Given the description of an element on the screen output the (x, y) to click on. 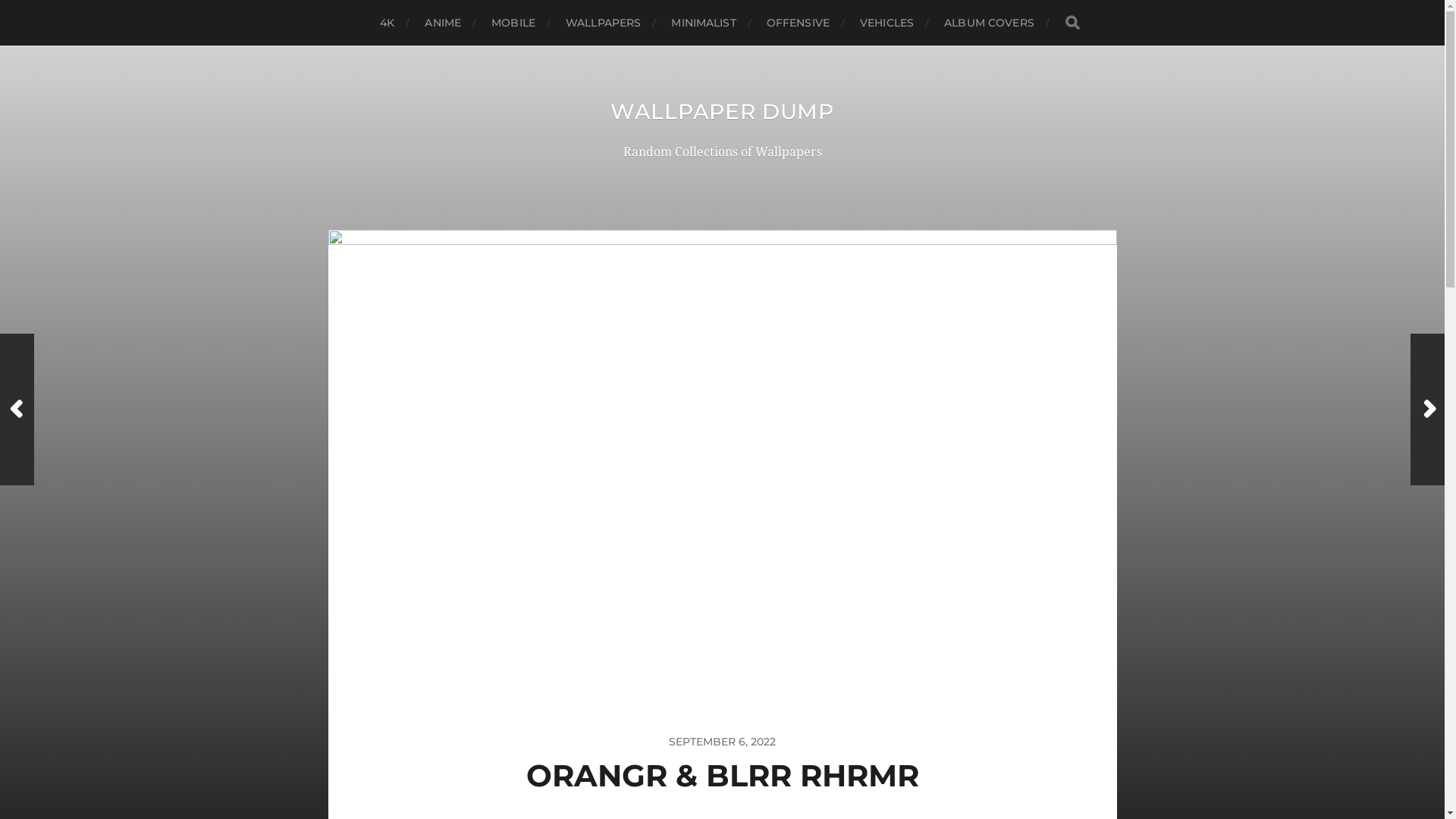
MINIMALIST Element type: text (703, 22)
VEHICLES Element type: text (886, 22)
ALBUM COVERS Element type: text (989, 22)
Previous Element type: text (17, 409)
WALLPAPER DUMP Element type: text (722, 111)
Next Element type: text (1427, 409)
WALLPAPERS Element type: text (602, 22)
OFFENSIVE Element type: text (797, 22)
4K Element type: text (386, 22)
ANIME Element type: text (442, 22)
MOBILE Element type: text (513, 22)
